Given the description of an element on the screen output the (x, y) to click on. 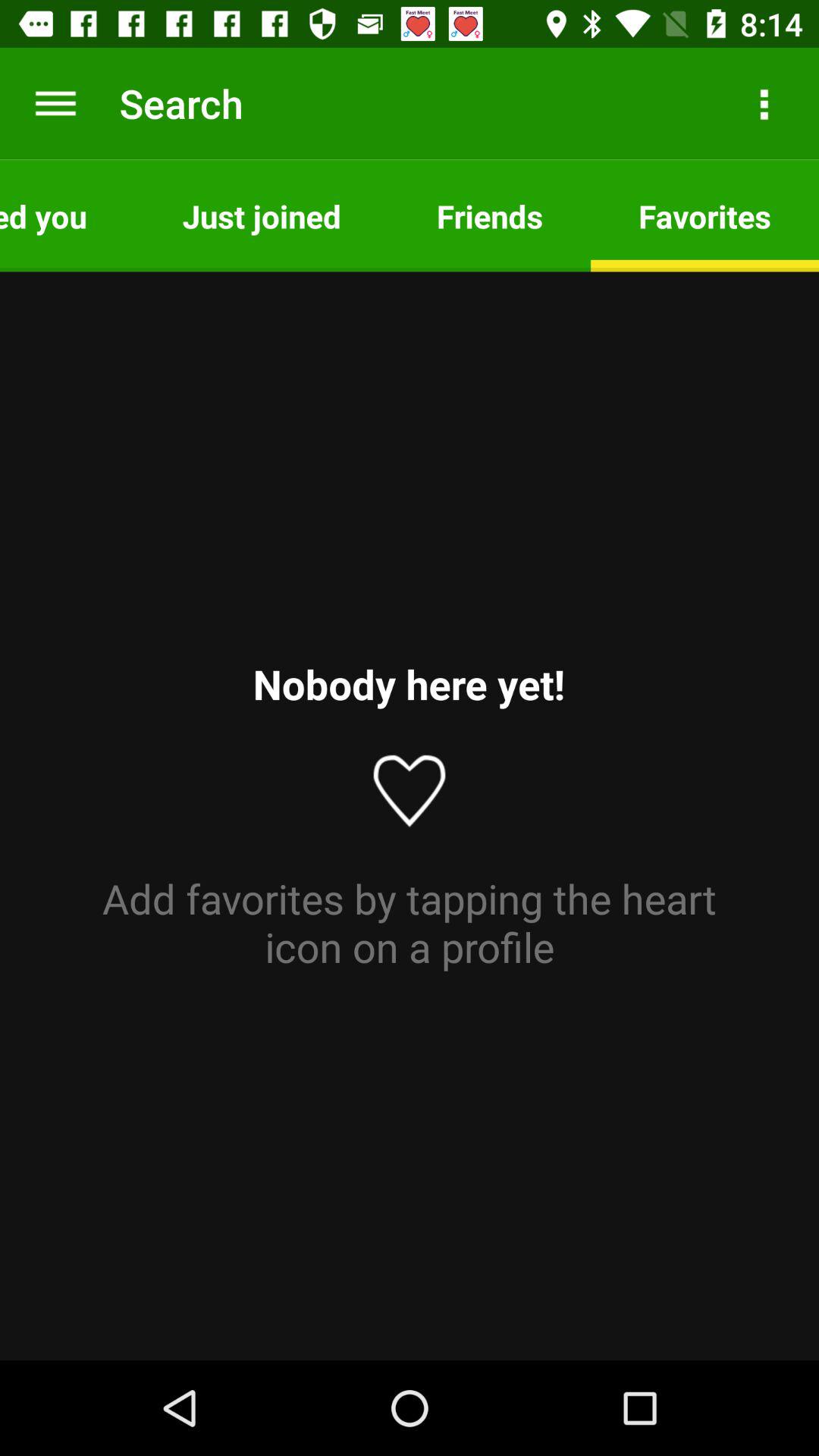
click the friends app (489, 215)
